Given the description of an element on the screen output the (x, y) to click on. 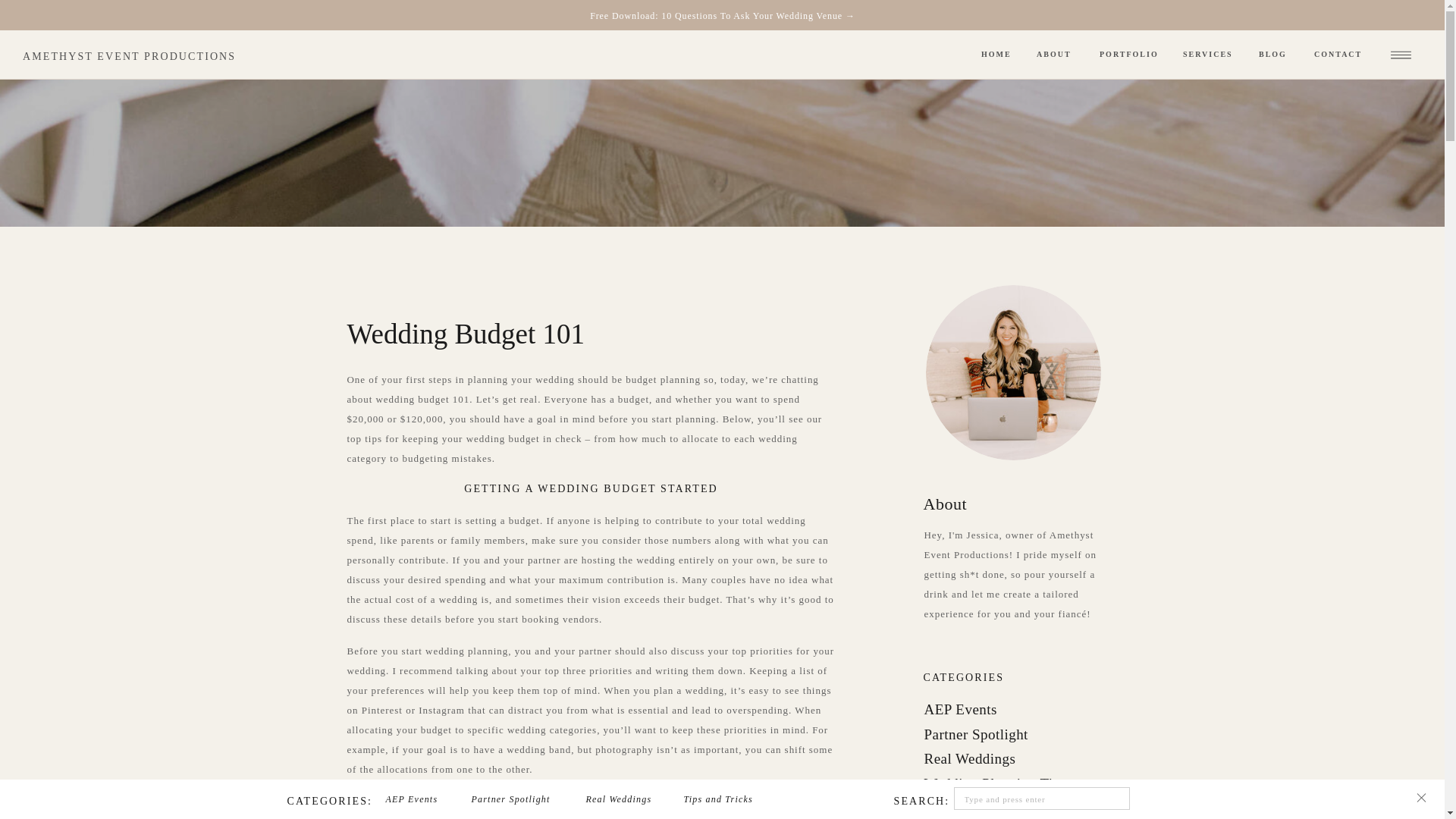
PORTFOLIO (1133, 54)
Wedding Planning Tips (1012, 784)
Partner Spotlight (1012, 735)
AMETHYST EVENT PRODUCTIONS (143, 54)
HOME (1000, 54)
CONTACT (1343, 54)
SERVICES (1212, 54)
Real Weddings (1012, 759)
BLOG (1278, 54)
AEP Events (1012, 710)
ABOUT (1059, 54)
